Given the description of an element on the screen output the (x, y) to click on. 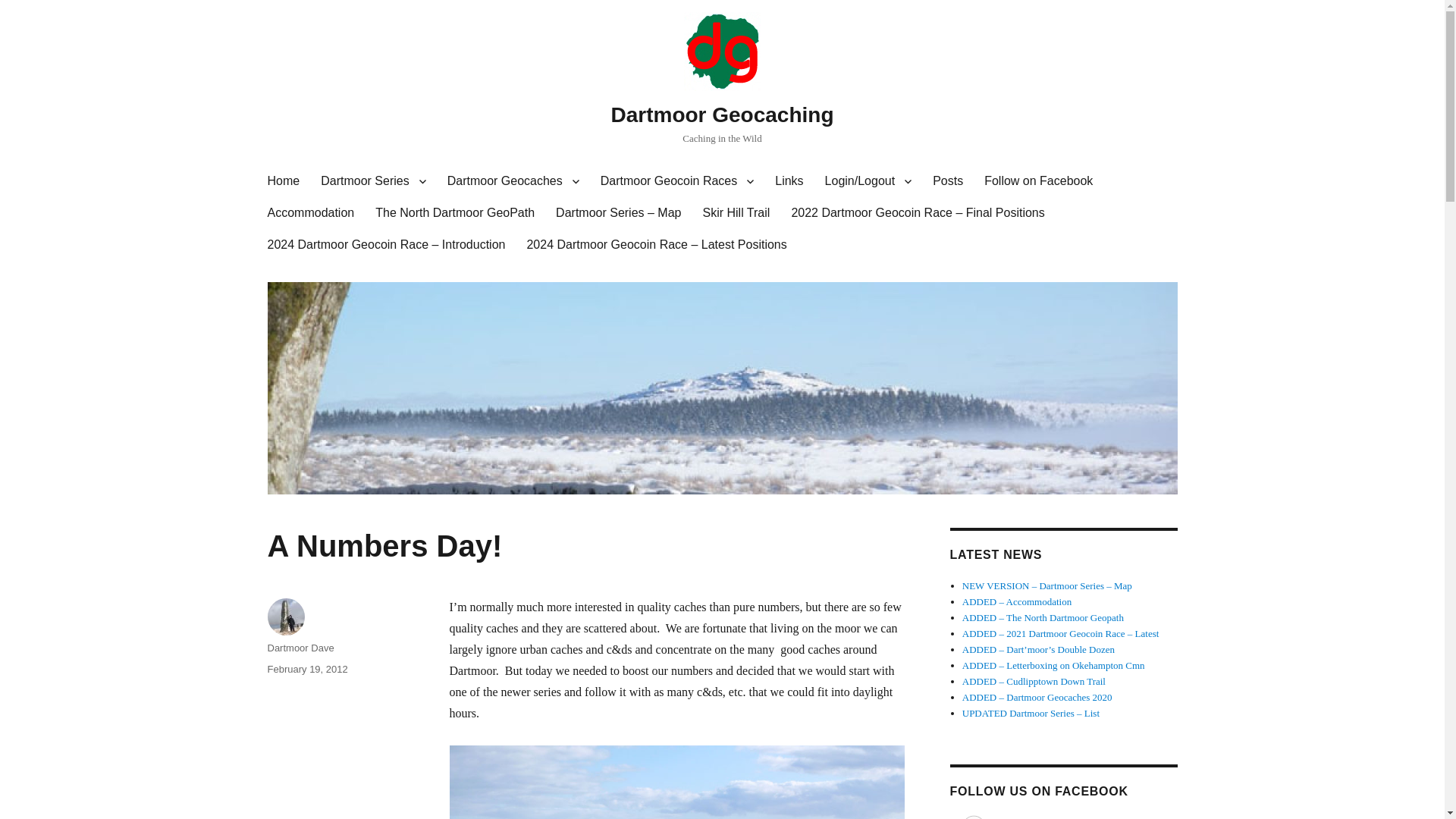
Dartmoor Series (372, 181)
Dartmoor Geocoin Races (677, 181)
Teignmouth (676, 782)
Home (283, 181)
Dartmoor Geocaches (512, 181)
Dartmoor Geocaching (721, 114)
